Given the description of an element on the screen output the (x, y) to click on. 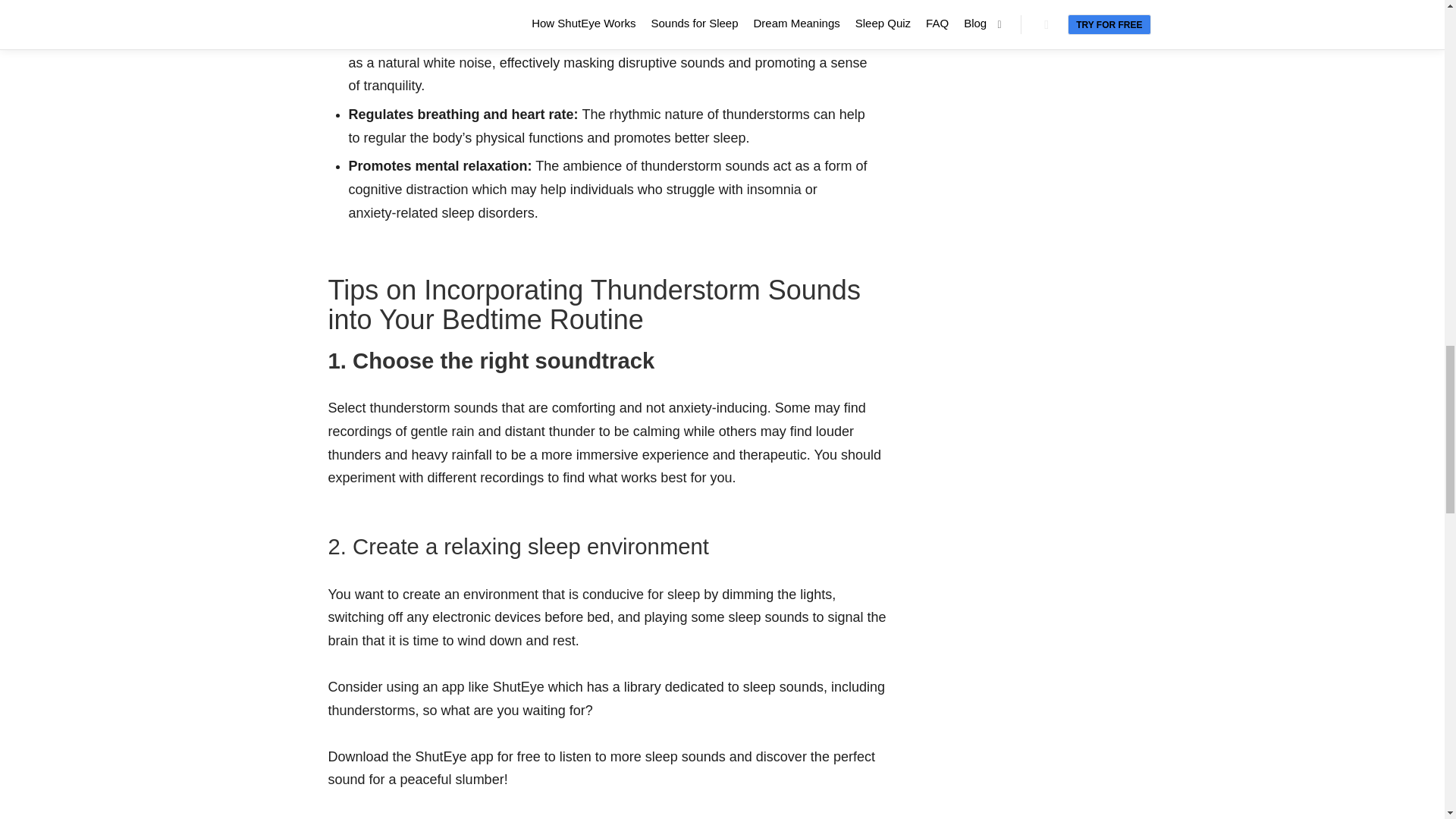
insomnia (774, 189)
ShutEye (518, 686)
environment that is conducive for sleep (581, 594)
white noise (457, 62)
anxiety-related (393, 212)
